Given the description of an element on the screen output the (x, y) to click on. 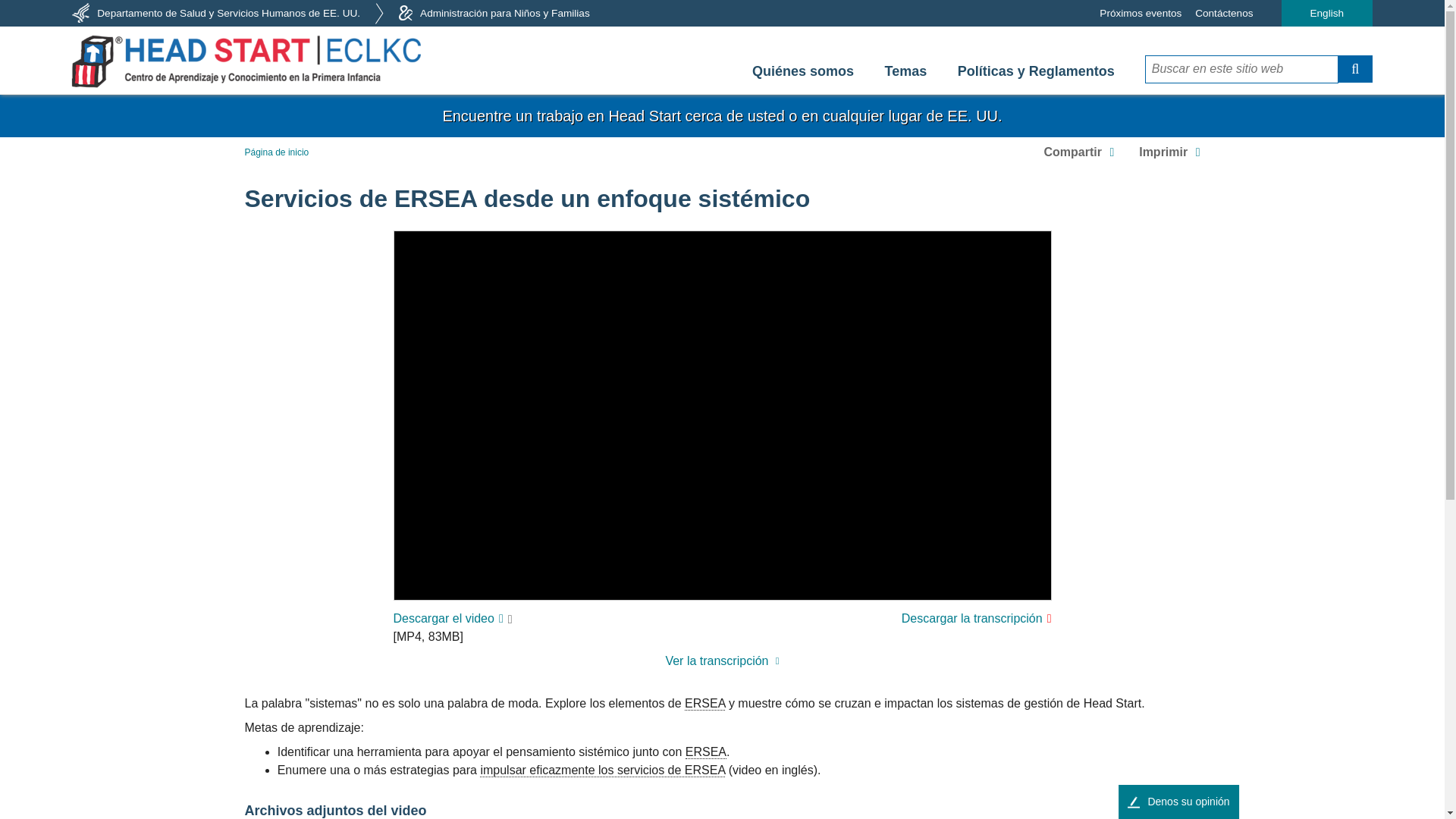
Departamento de Salud y Servicios Humanos de EE. UU. (215, 13)
Printer Friendly and PDF (1168, 151)
Job Center (721, 116)
Pasar al contenido principal (721, 98)
Centro de Aprendizaje y Conocimiento en la Primera Infancia (245, 61)
English (1327, 13)
Temas (906, 71)
ECLKC homepage (245, 61)
